Given the description of an element on the screen output the (x, y) to click on. 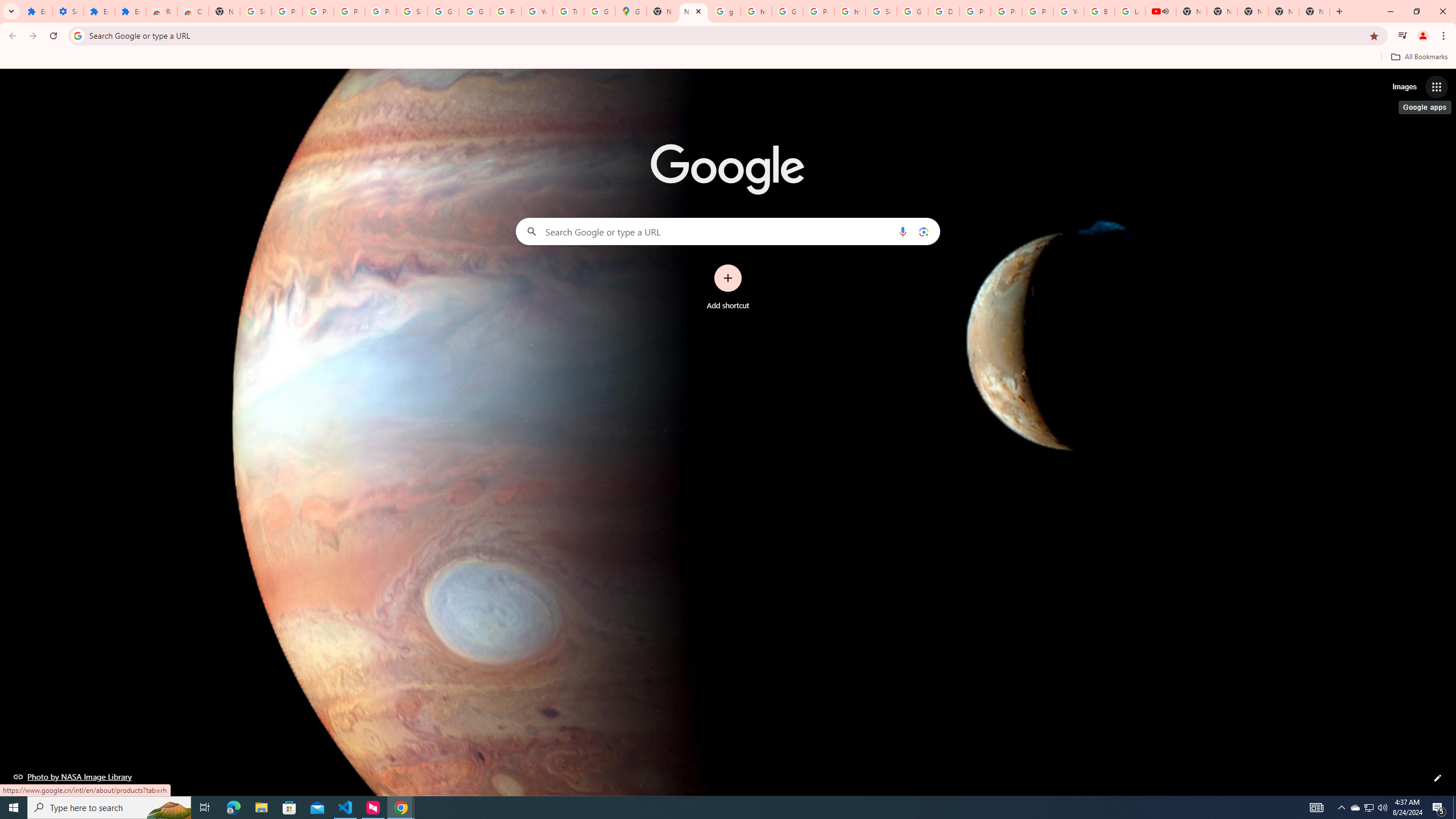
https://scholar.google.com/ (849, 11)
Photo by NASA Image Library (72, 776)
